Given the description of an element on the screen output the (x, y) to click on. 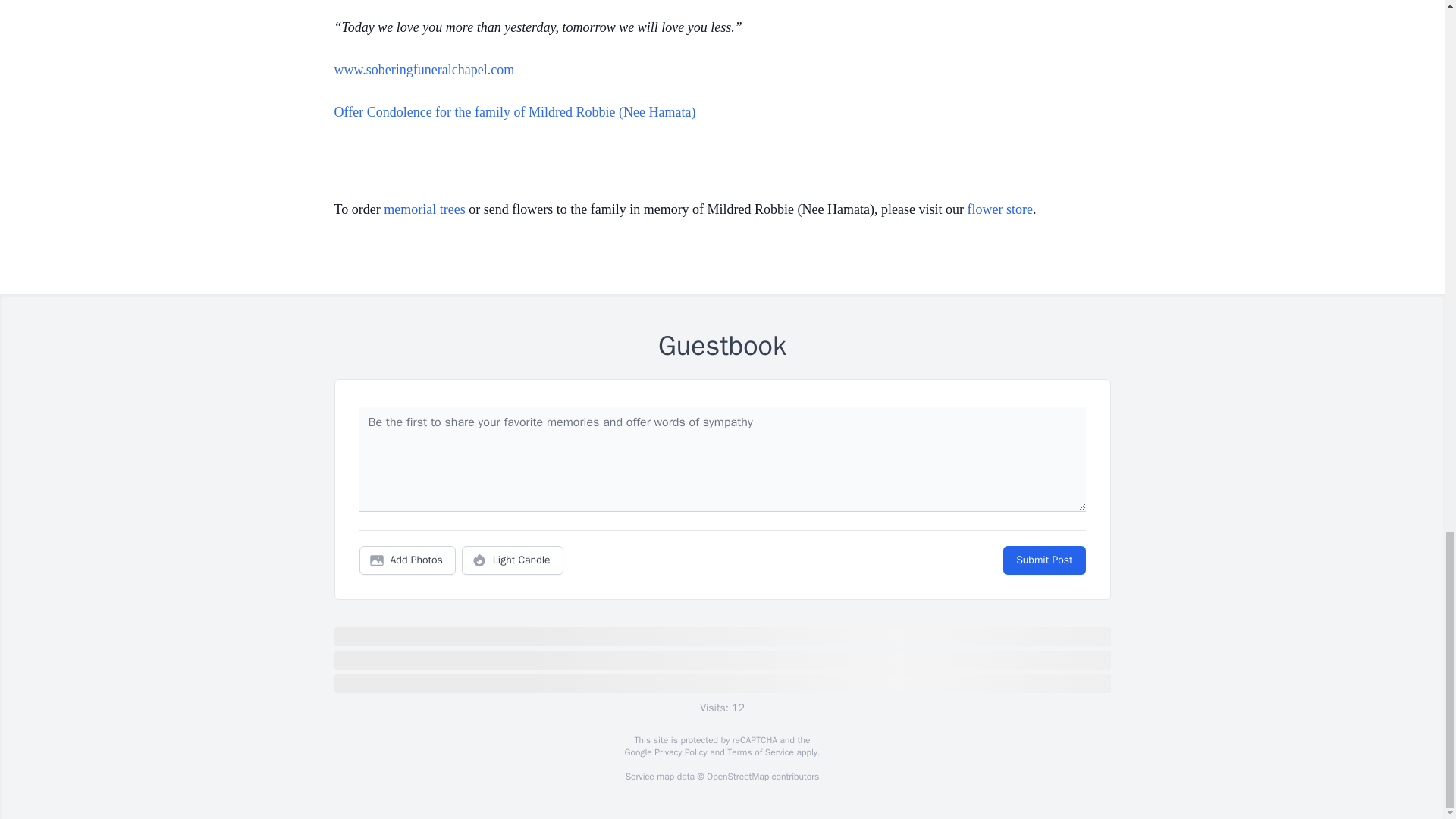
memorial trees (424, 209)
Submit Post (1043, 560)
Light Candle (512, 560)
OpenStreetMap (737, 776)
www.soberingfuneralchapel.com (423, 69)
Terms of Service (759, 752)
flower store (1000, 209)
Add Photos (407, 560)
Privacy Policy (679, 752)
